Given the description of an element on the screen output the (x, y) to click on. 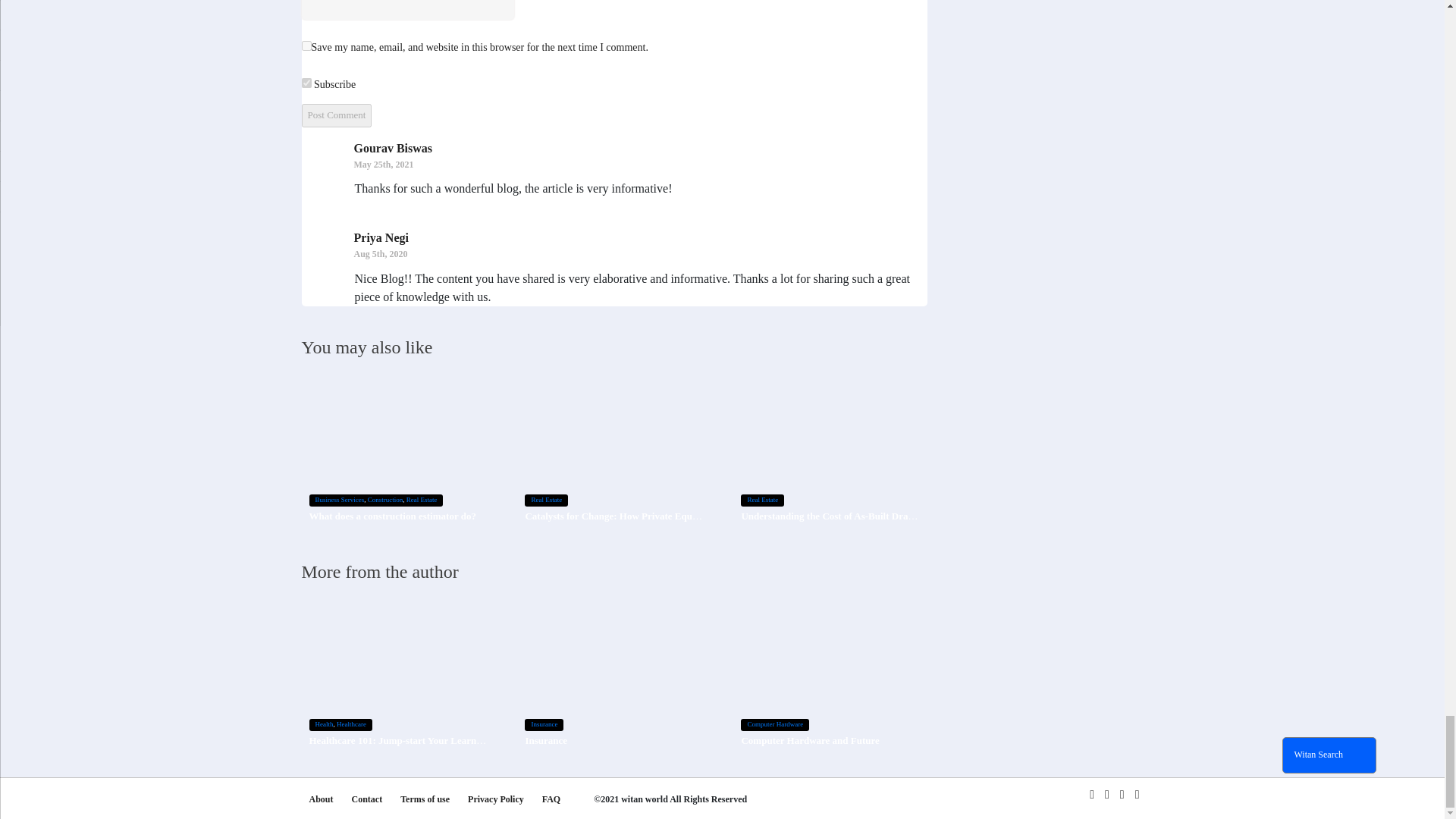
1 (306, 82)
Post Comment (336, 115)
yes (306, 45)
